Given the description of an element on the screen output the (x, y) to click on. 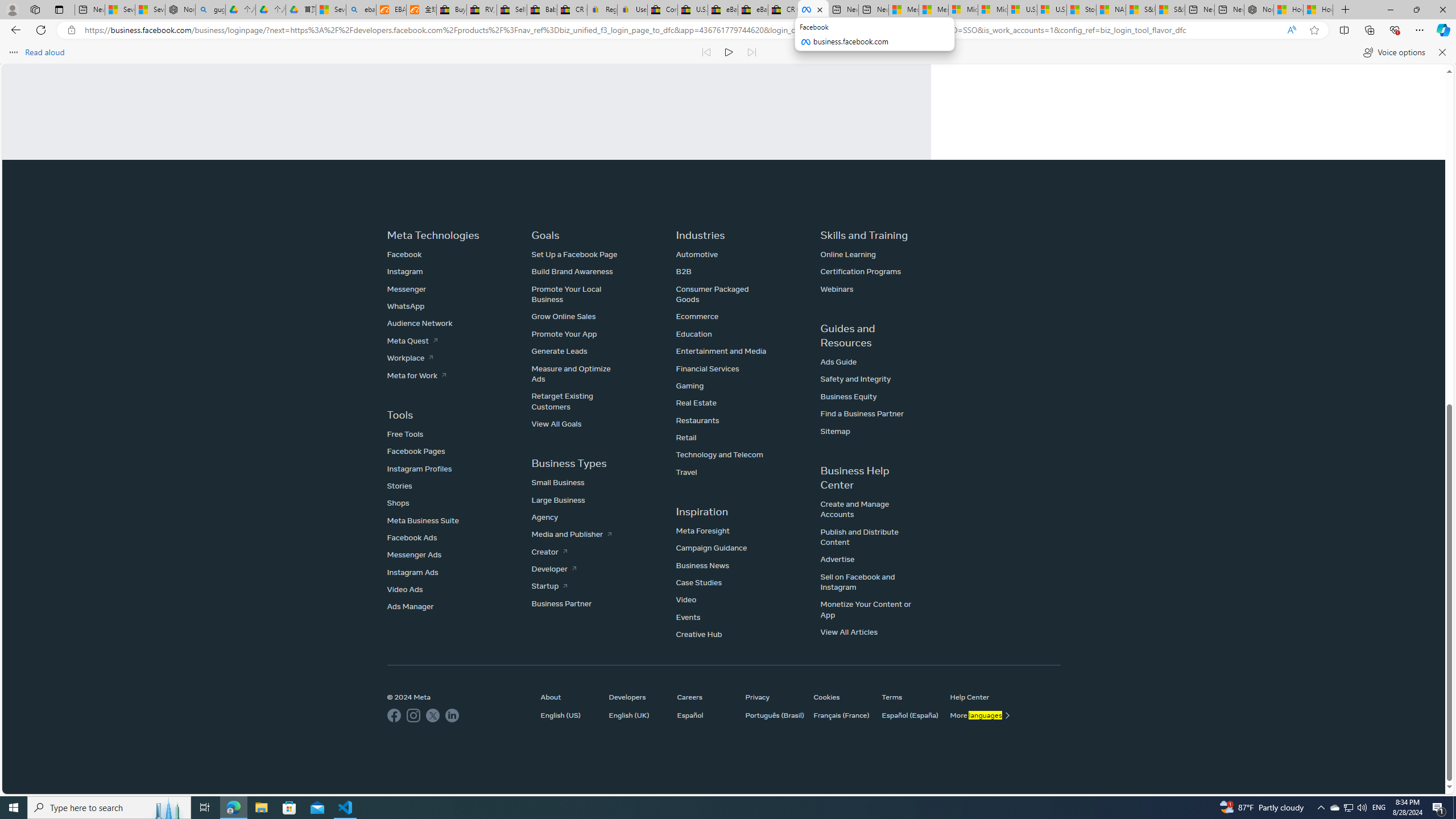
User Privacy Notice | eBay (632, 9)
Travel (686, 471)
Ads Manager (410, 606)
eBay Inc. Reports Third Quarter 2023 Results (753, 9)
Business News (702, 565)
Developer (553, 569)
Facebook (812, 9)
Workplace (410, 357)
guge yunpan - Search (210, 9)
